Given the description of an element on the screen output the (x, y) to click on. 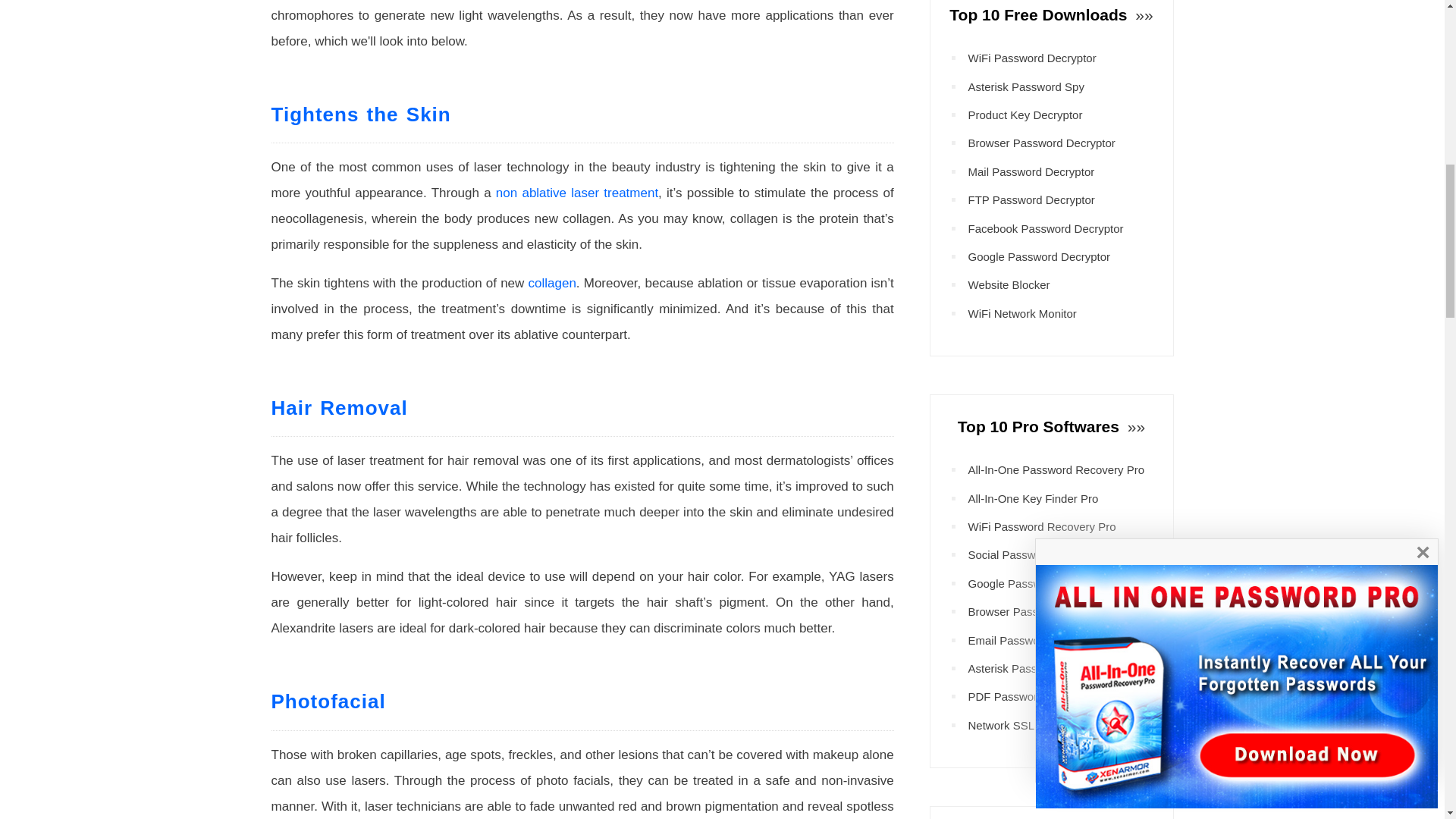
See More... (1134, 425)
non ablative laser treatment (577, 192)
See More... (1142, 14)
collagen (552, 283)
